Given the description of an element on the screen output the (x, y) to click on. 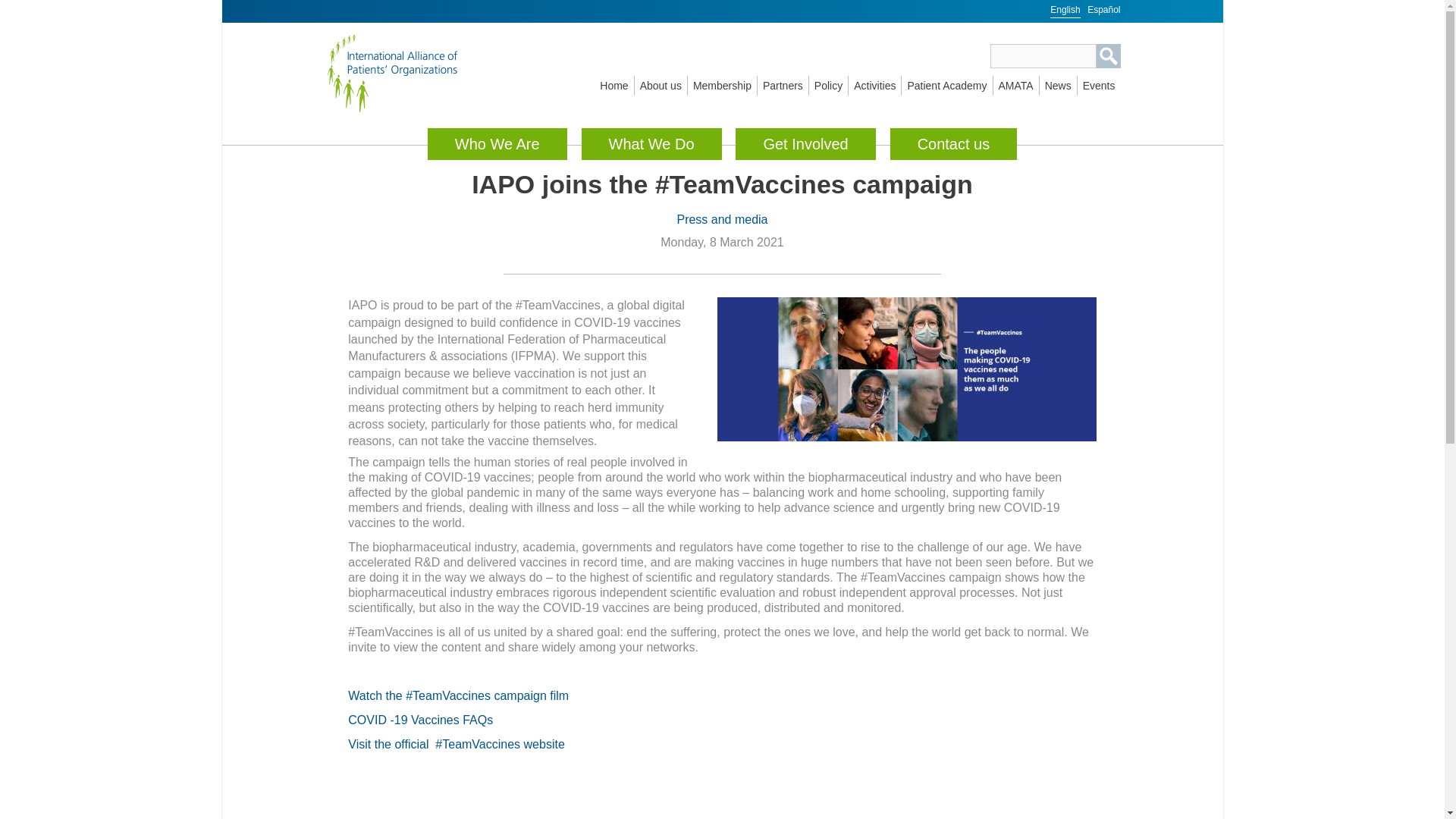
Home (408, 73)
Policy (828, 85)
About us (660, 85)
Search (1108, 55)
Partners (782, 85)
Search (1108, 55)
Membership (722, 85)
Find out about IAPO membership (722, 85)
Enter the terms you wish to search for. (1043, 55)
